Given the description of an element on the screen output the (x, y) to click on. 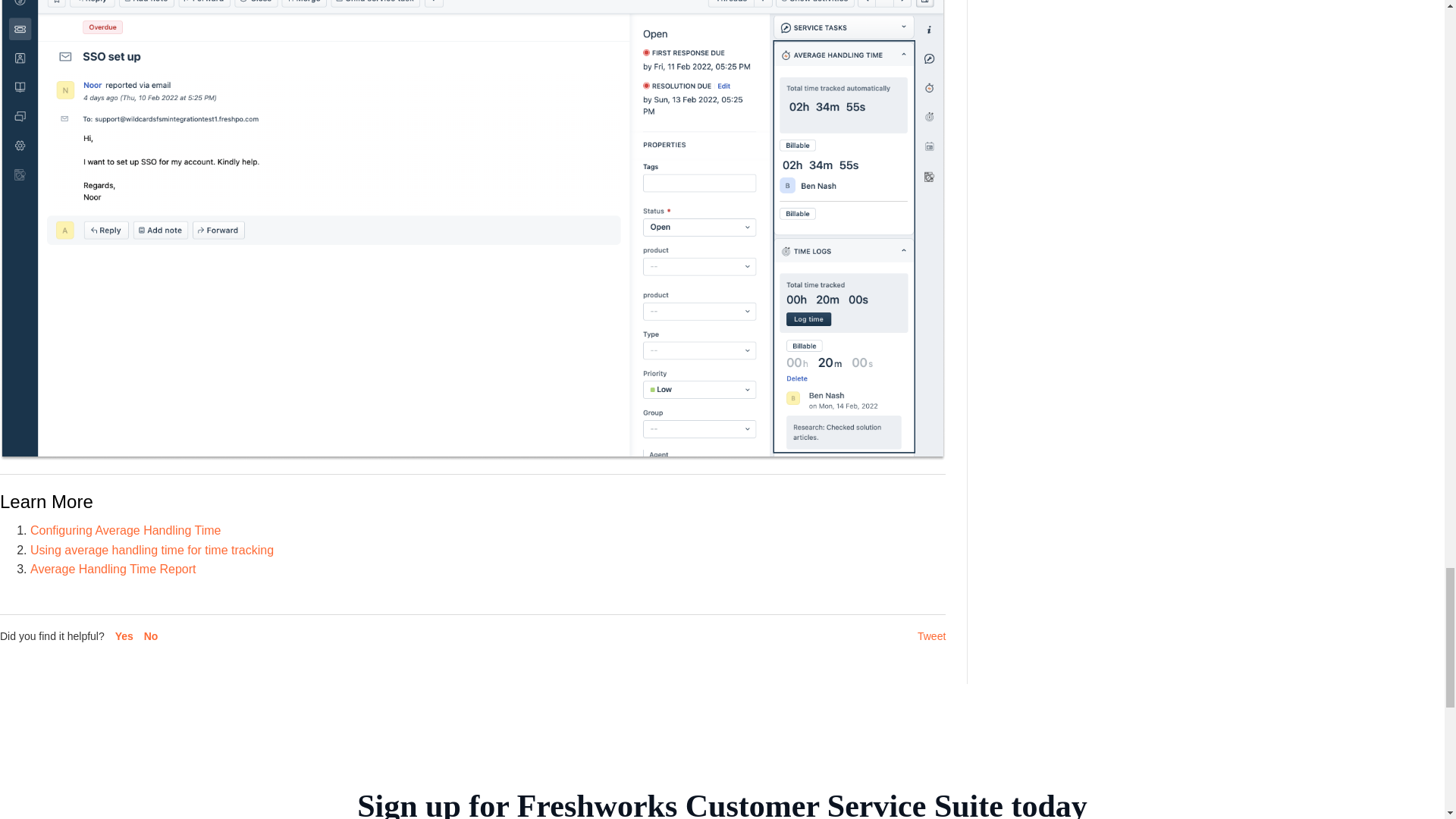
Using average handling time for time tracking (151, 549)
Tweet (930, 635)
Configuring Average Handling Time (125, 530)
Average Handling Time Report (113, 568)
